Given the description of an element on the screen output the (x, y) to click on. 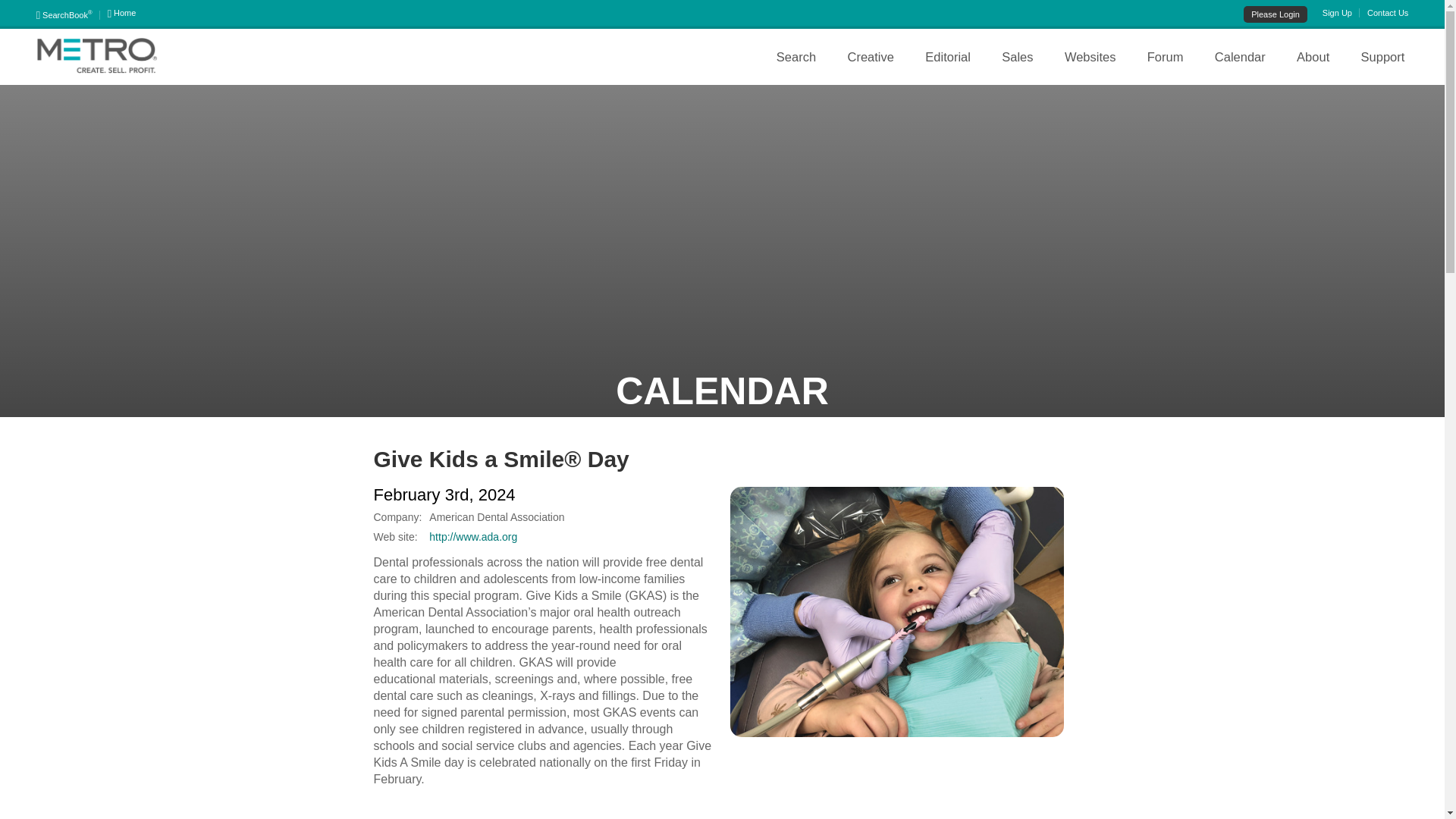
Editorial (947, 56)
Search (796, 56)
Sign Up (1340, 12)
Contact Us (1387, 12)
Please Login (1275, 13)
Home (121, 12)
Creative (869, 56)
